Given the description of an element on the screen output the (x, y) to click on. 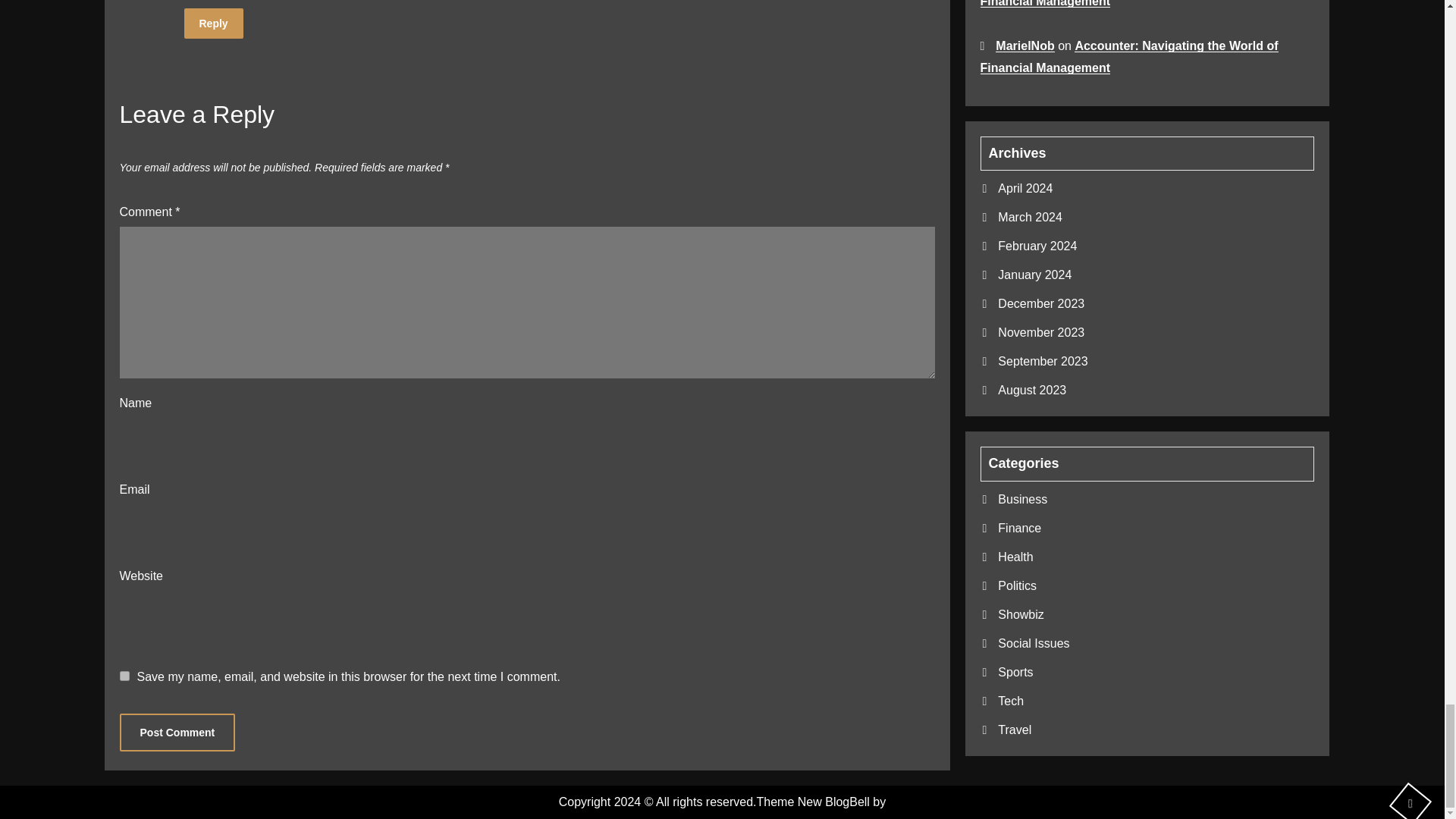
Reply (213, 23)
Post Comment (177, 732)
yes (124, 675)
Post Comment (177, 732)
